Given the description of an element on the screen output the (x, y) to click on. 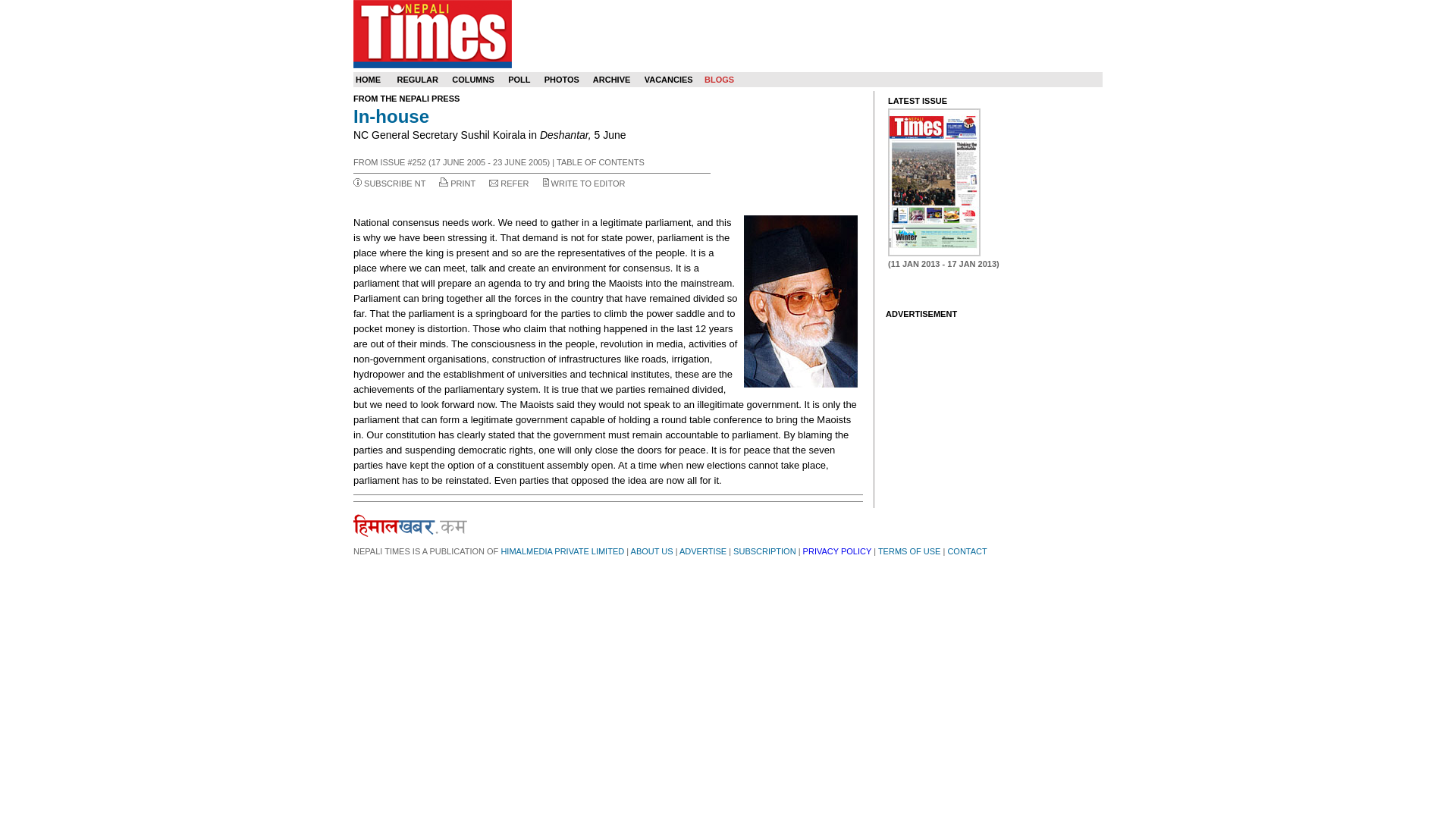
WRITE TO EDITOR (588, 183)
SUBSCRIPTION (764, 551)
PHOTOS (561, 79)
BLOGS (718, 79)
Nepali Times (432, 33)
ABOUT US (651, 551)
REGULAR (417, 79)
himalkhabar.com (410, 525)
SUBSCRIBE NT (394, 183)
COLUMNS (473, 79)
PRINT (463, 183)
ADVERTISE (702, 551)
HIMALMEDIA PRIVATE LIMITED (562, 551)
PRIVACY POLICY (836, 551)
TABLE OF CONTENTS (600, 162)
